Given the description of an element on the screen output the (x, y) to click on. 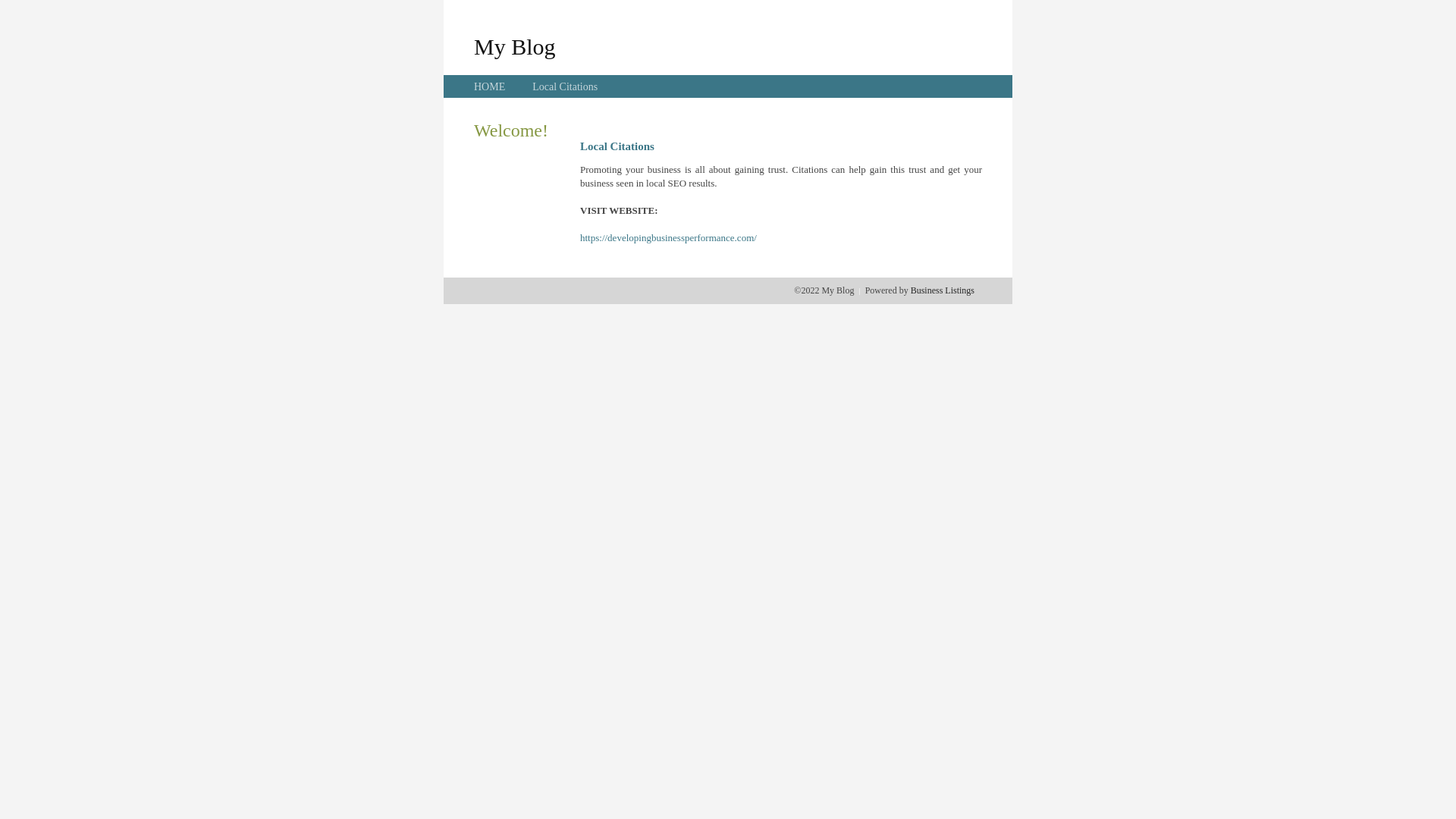
Business Listings Element type: text (942, 290)
HOME Element type: text (489, 86)
Local Citations Element type: text (564, 86)
https://developingbusinessperformance.com/ Element type: text (668, 237)
My Blog Element type: text (514, 46)
